Given the description of an element on the screen output the (x, y) to click on. 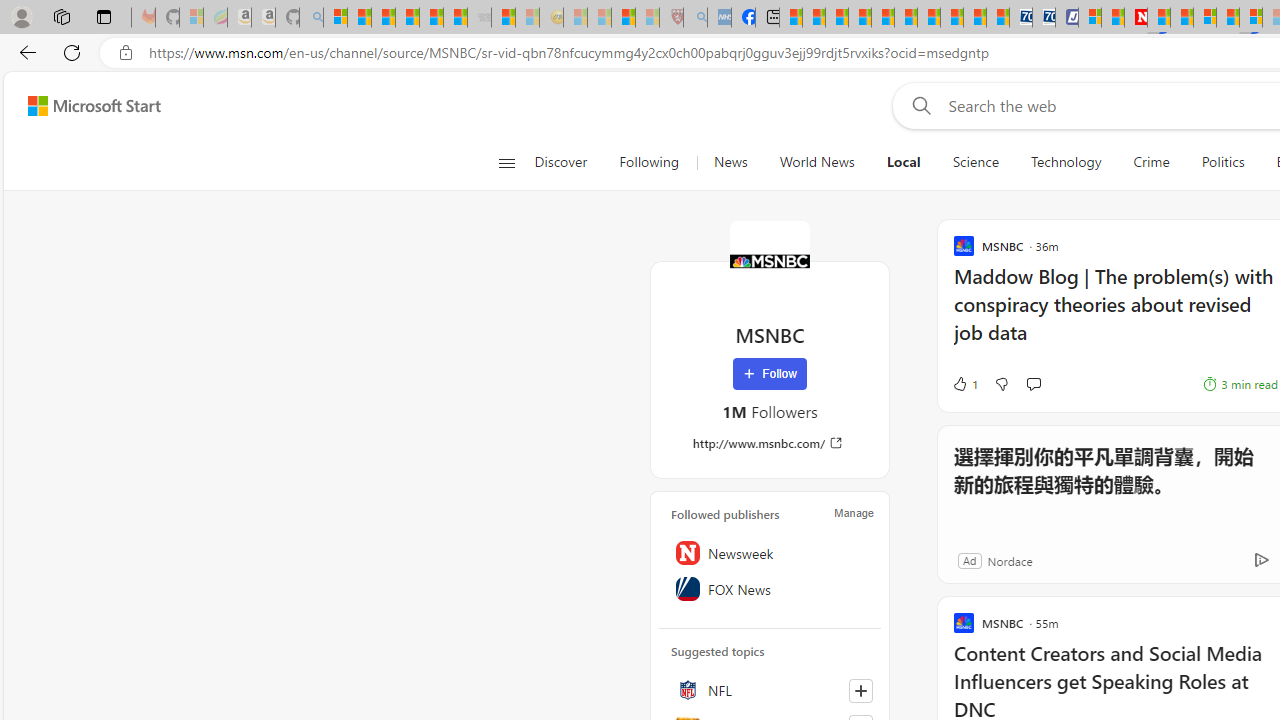
MSNBC (769, 260)
Latest Politics News & Archive | Newsweek.com (1135, 17)
